Given the description of an element on the screen output the (x, y) to click on. 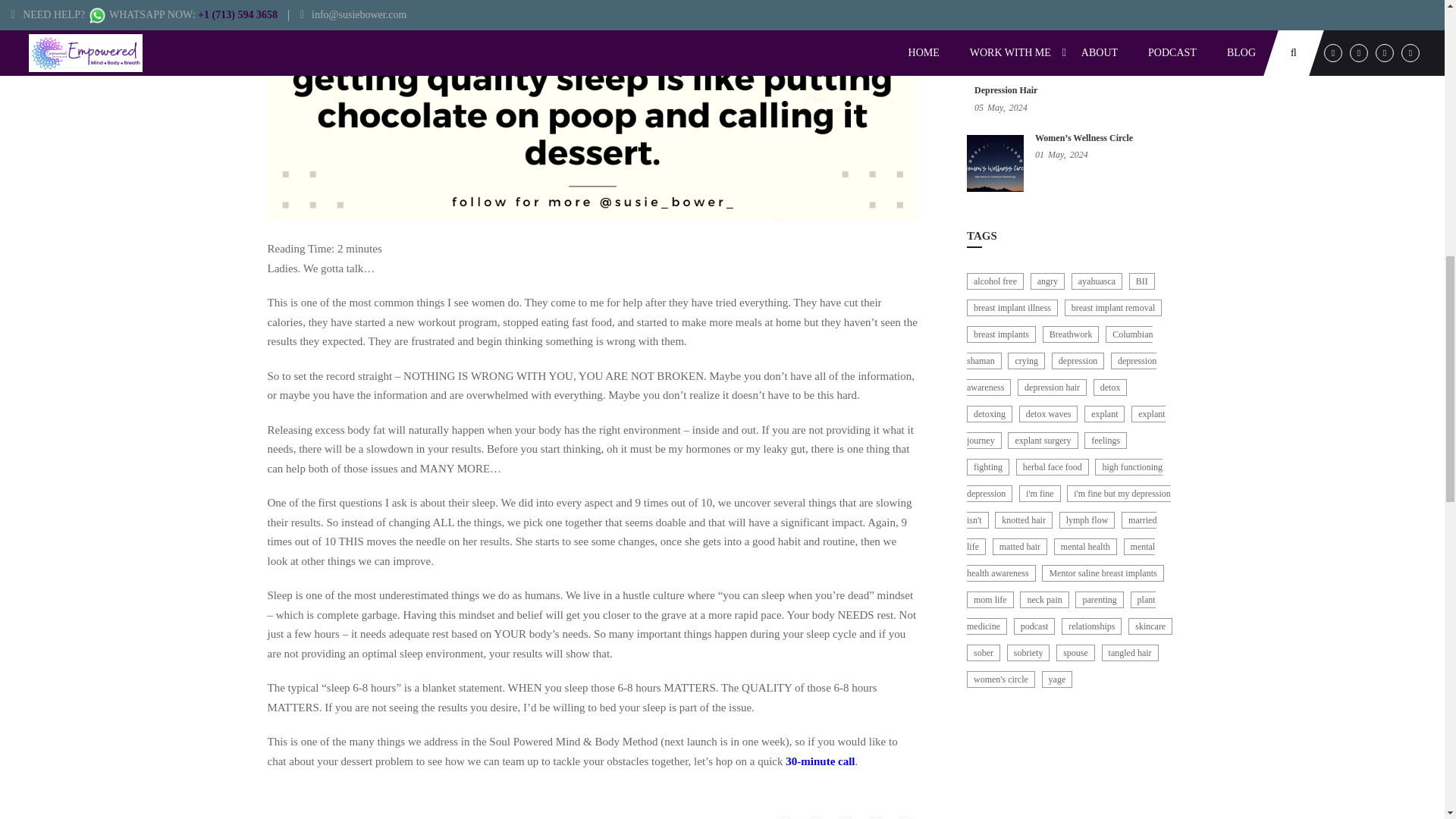
30-minute call (820, 761)
